Given the description of an element on the screen output the (x, y) to click on. 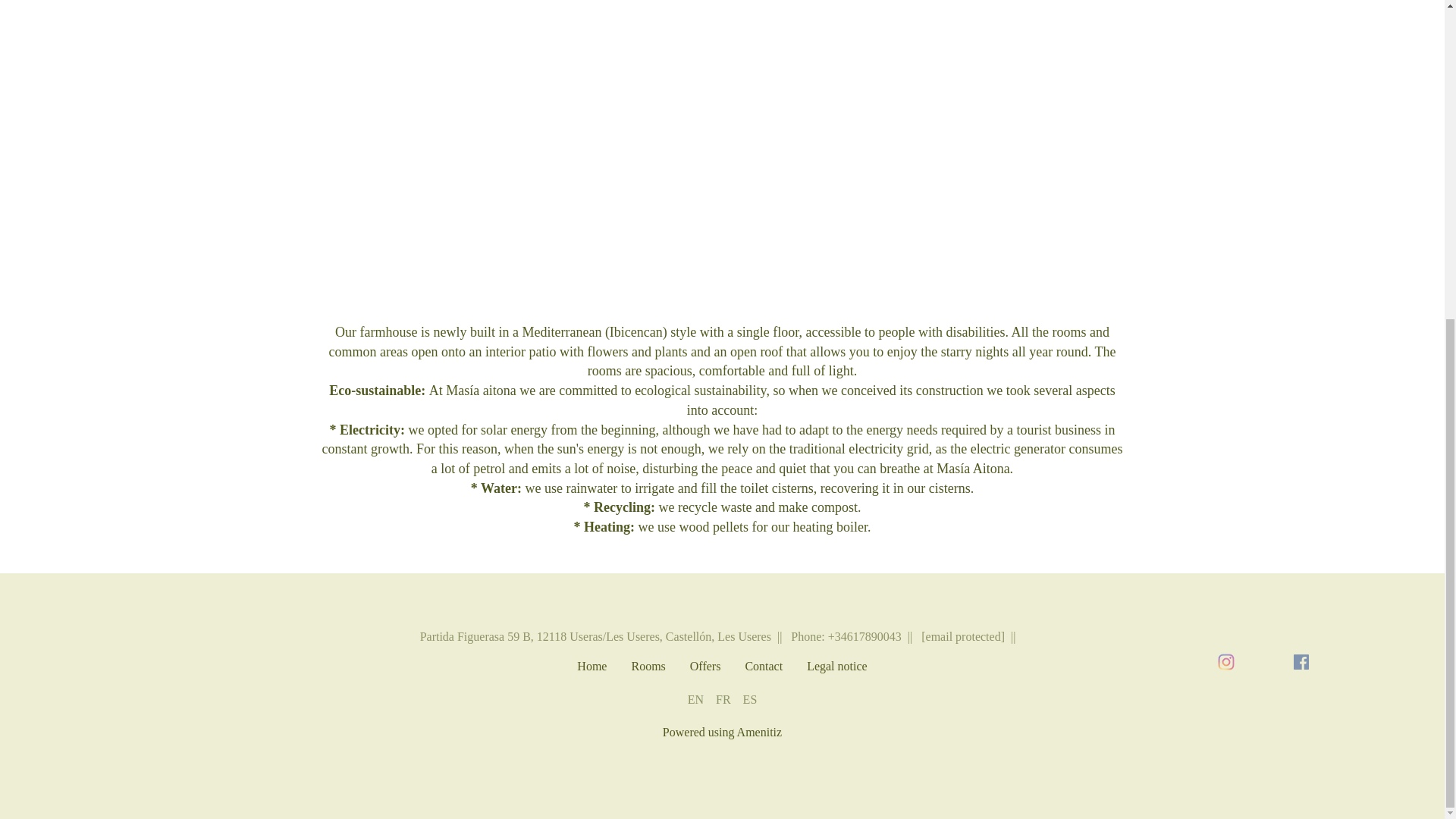
Powered using Amenitiz (721, 731)
FR (723, 698)
EN (695, 698)
Rooms (647, 672)
Contact (763, 672)
Legal notice (836, 672)
Home (591, 672)
Offers (705, 672)
ES (749, 698)
